Given the description of an element on the screen output the (x, y) to click on. 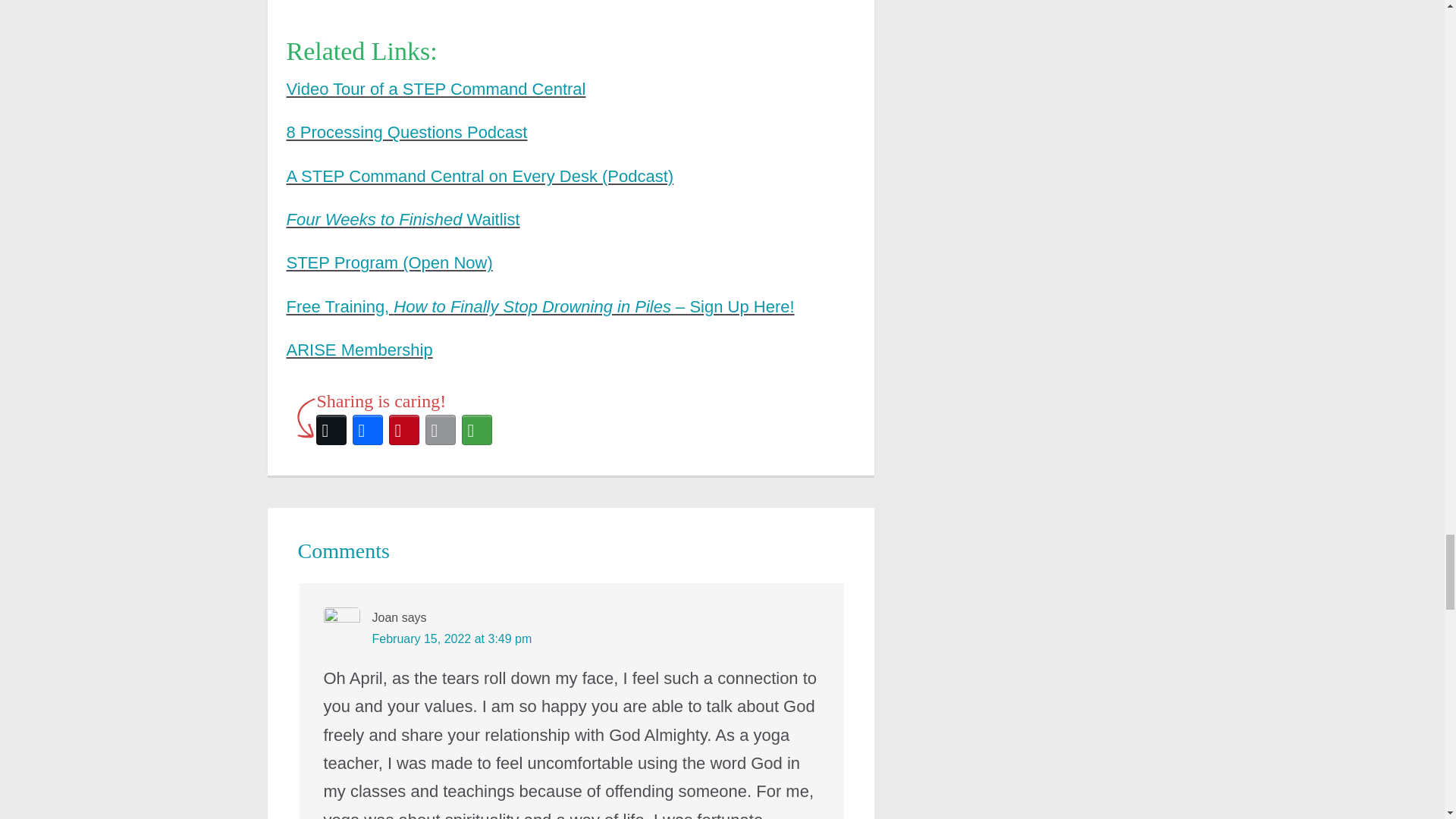
February 15, 2022 at 3:49 pm (451, 638)
Email This (440, 429)
Pinterest (403, 429)
Facebook (367, 429)
8 Processing Questions Podcast (406, 131)
ARISE Membership (359, 349)
Video Tour of a STEP Command Central (436, 88)
More Options (476, 429)
Four Weeks to Finished Waitlist (402, 219)
